Given the description of an element on the screen output the (x, y) to click on. 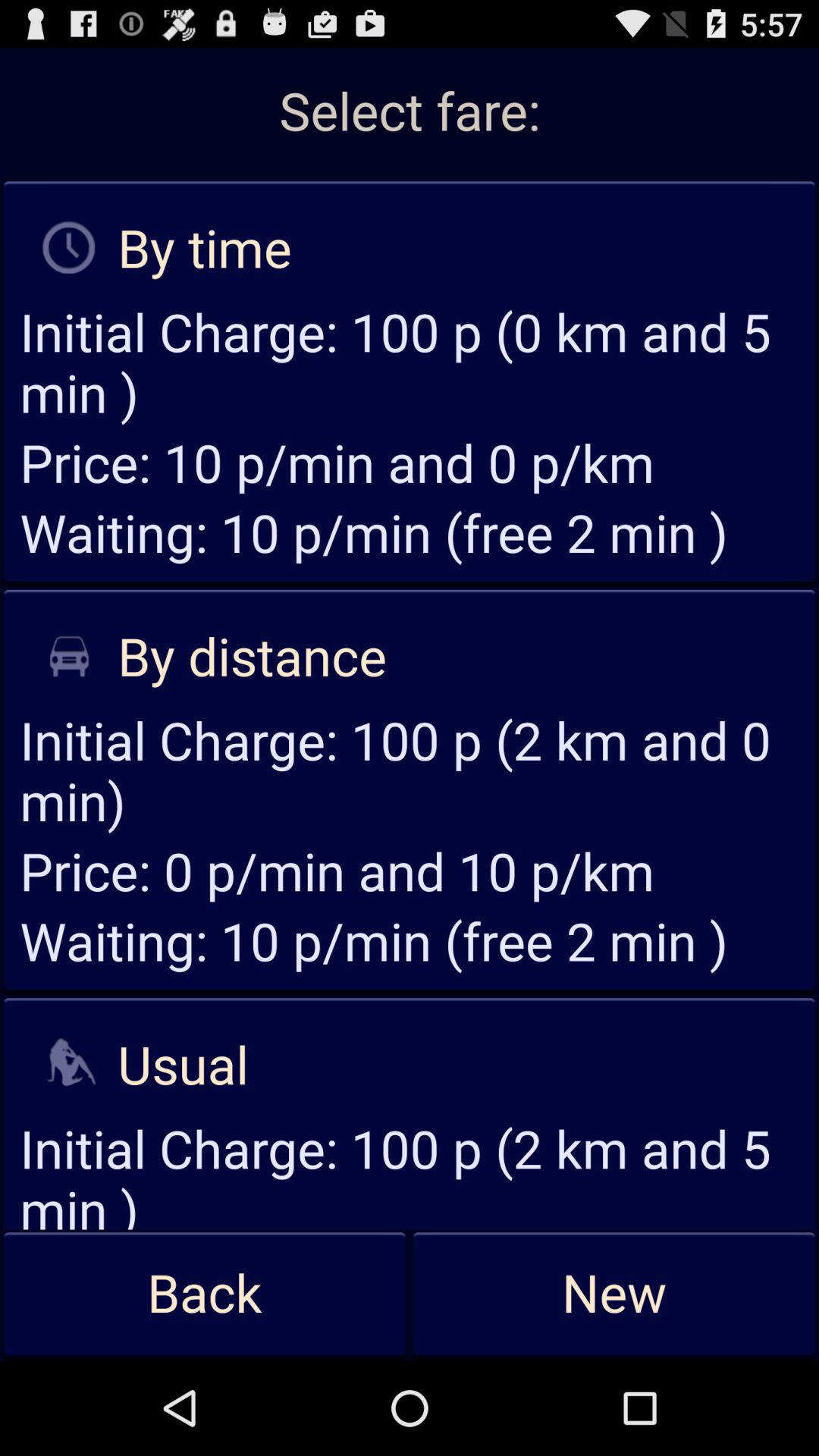
jump until the back icon (204, 1294)
